Given the description of an element on the screen output the (x, y) to click on. 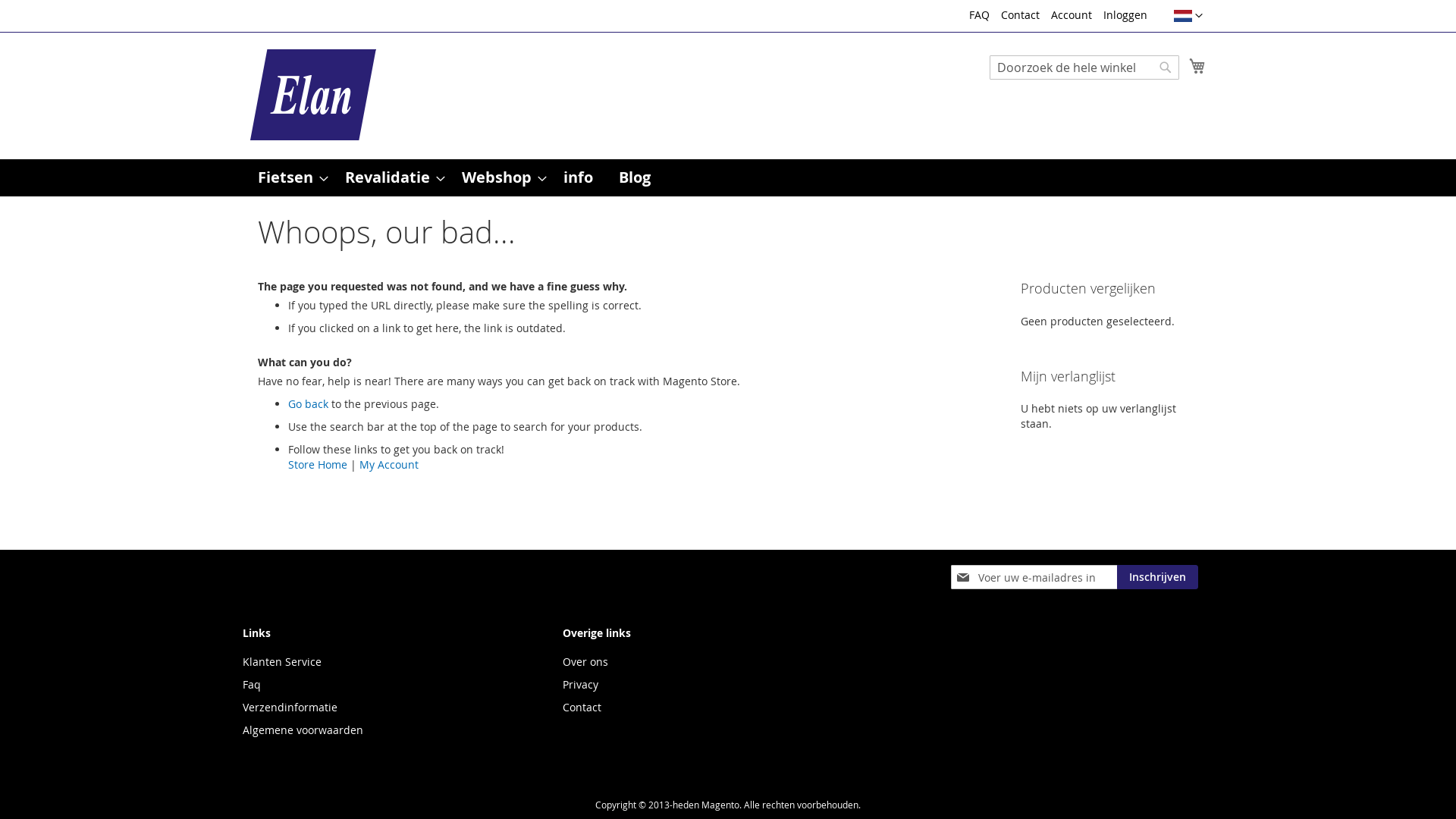
Store Home Element type: text (317, 464)
Over ons Element type: text (585, 661)
Contact Element type: text (581, 706)
Verzendinformatie Element type: text (289, 706)
Webshop Element type: text (499, 177)
Inloggen Element type: text (1125, 14)
Fietsen Element type: text (288, 177)
Inschrijven Element type: text (1157, 576)
My Account Element type: text (388, 464)
Account Element type: text (1071, 14)
Contact Element type: text (1020, 14)
info Element type: text (578, 177)
Algemene voorwaarden Element type: text (302, 729)
Ga naar de inhoud Element type: text (257, 6)
Revalidatie Element type: text (390, 177)
Winkelwagen Element type: text (1197, 65)
Klanten Service Element type: text (281, 661)
Search Element type: text (1165, 67)
Blog Element type: text (634, 177)
Faq Element type: text (251, 684)
Default Store View Element type: hover (1182, 15)
elan Element type: hover (313, 94)
Go back Element type: text (308, 403)
Privacy Element type: text (580, 684)
FAQ Element type: text (979, 14)
